Given the description of an element on the screen output the (x, y) to click on. 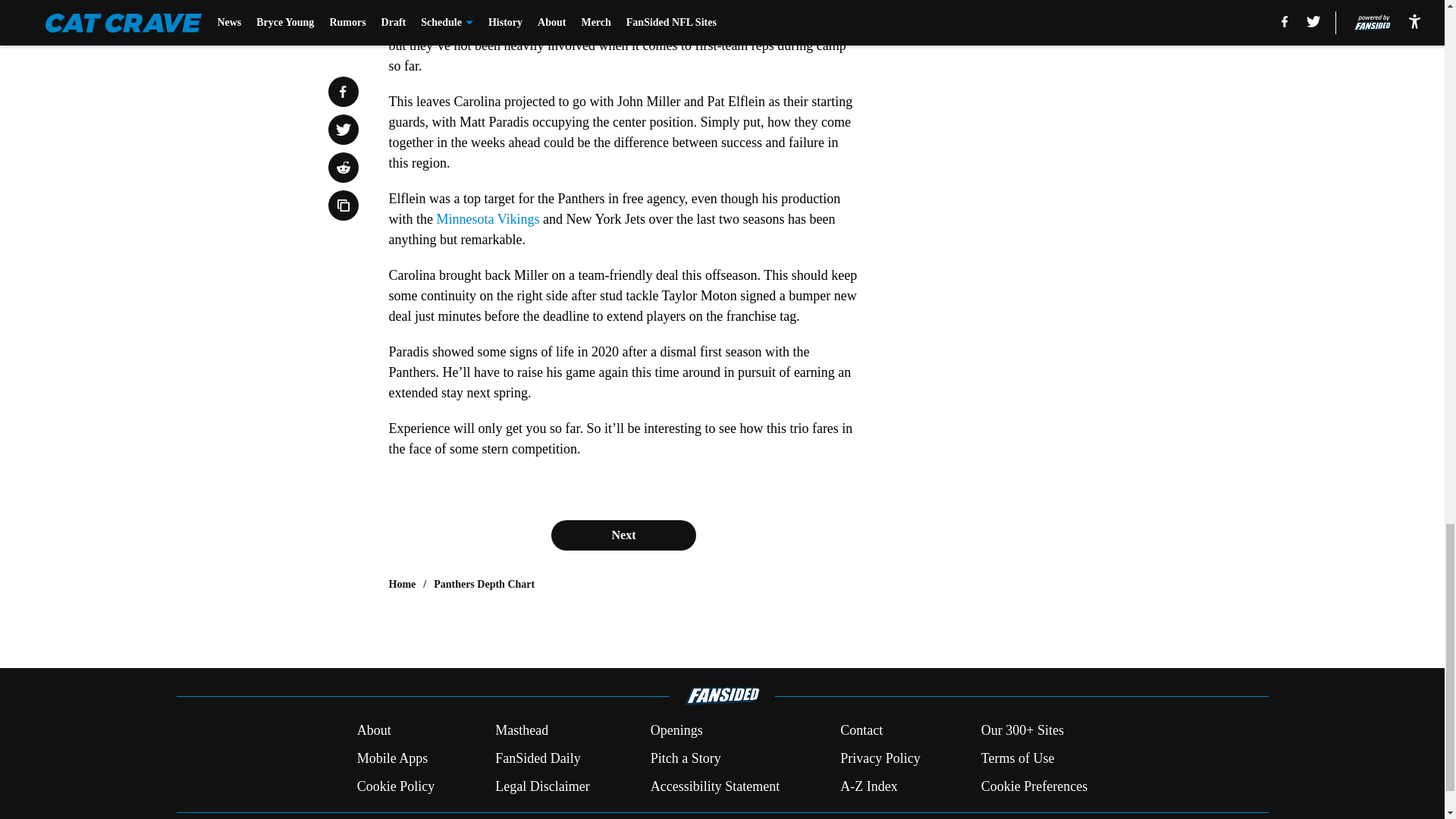
FanSided Daily (537, 758)
Panthers Depth Chart (483, 584)
Contact (861, 730)
Next (622, 535)
Cookie Policy (395, 786)
Openings (676, 730)
Pitch a Story (685, 758)
Minnesota Vikings (488, 218)
Privacy Policy (880, 758)
About (373, 730)
Masthead (521, 730)
Mobile Apps (392, 758)
Terms of Use (1017, 758)
Home (401, 584)
